Given the description of an element on the screen output the (x, y) to click on. 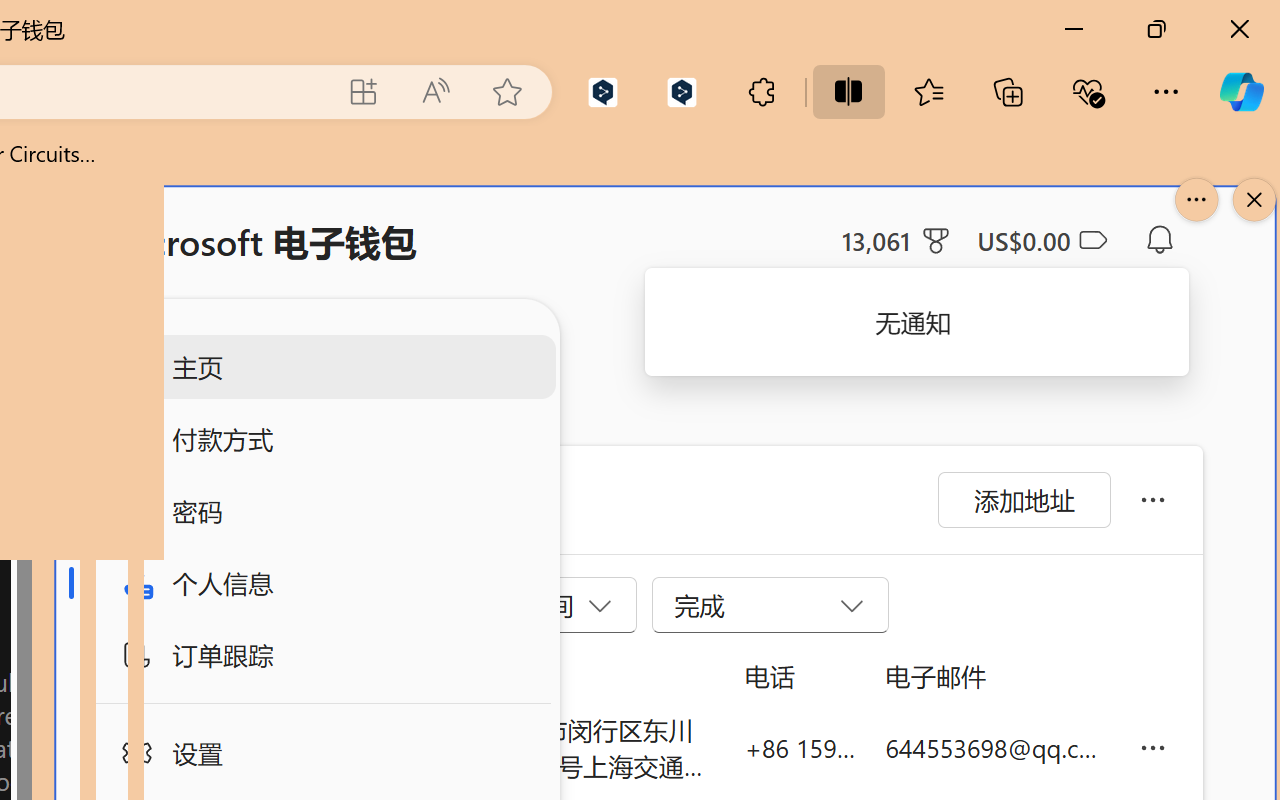
Wang Yian (406, 747)
Microsoft Cashback - US$0.00 (1041, 240)
Class: actions-container (94, 295)
644553698@qq.com (996, 747)
